Given the description of an element on the screen output the (x, y) to click on. 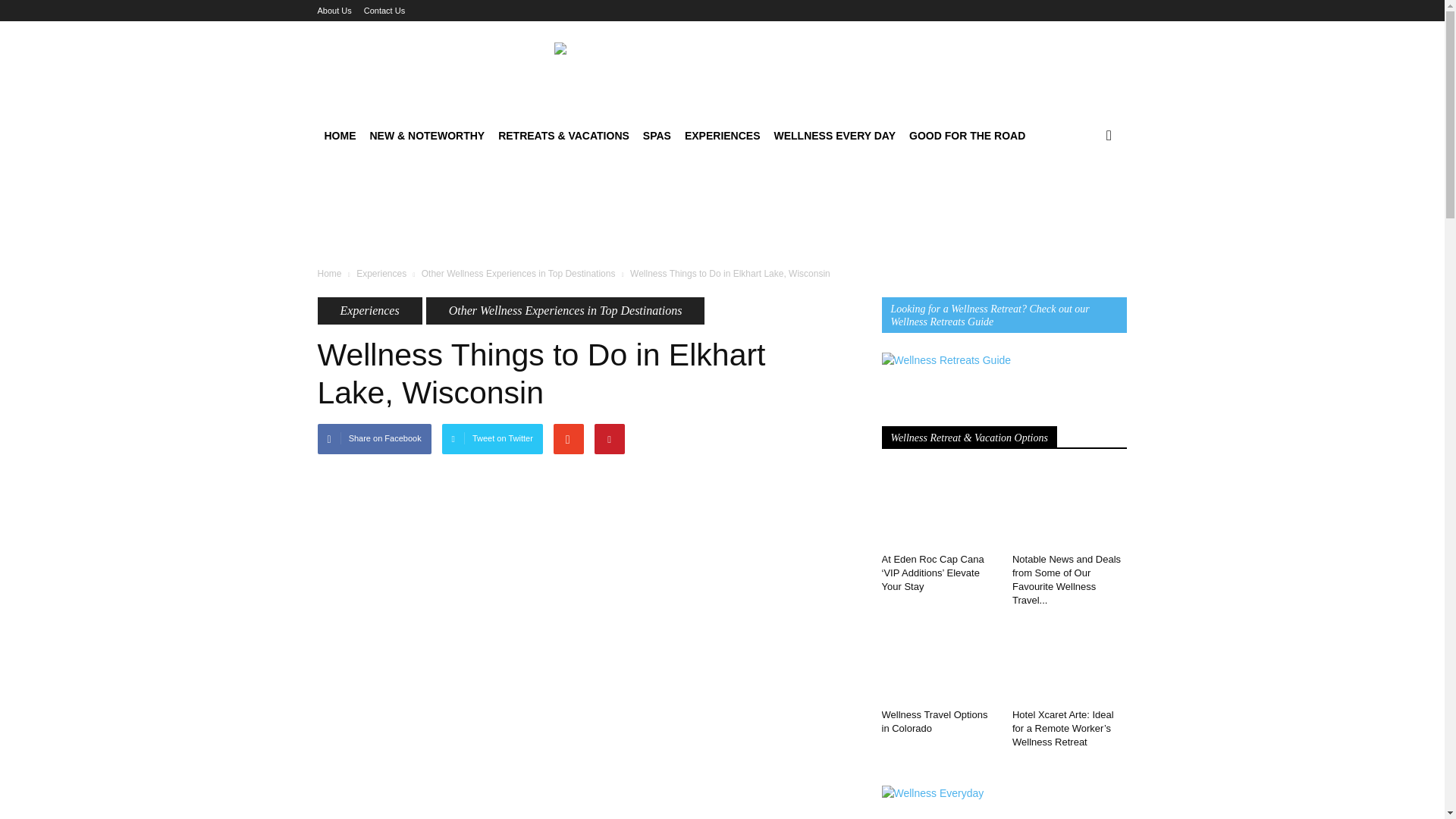
HOME (339, 135)
View all posts in Experiences (381, 273)
About Us (333, 10)
Contact Us (384, 10)
